Given the description of an element on the screen output the (x, y) to click on. 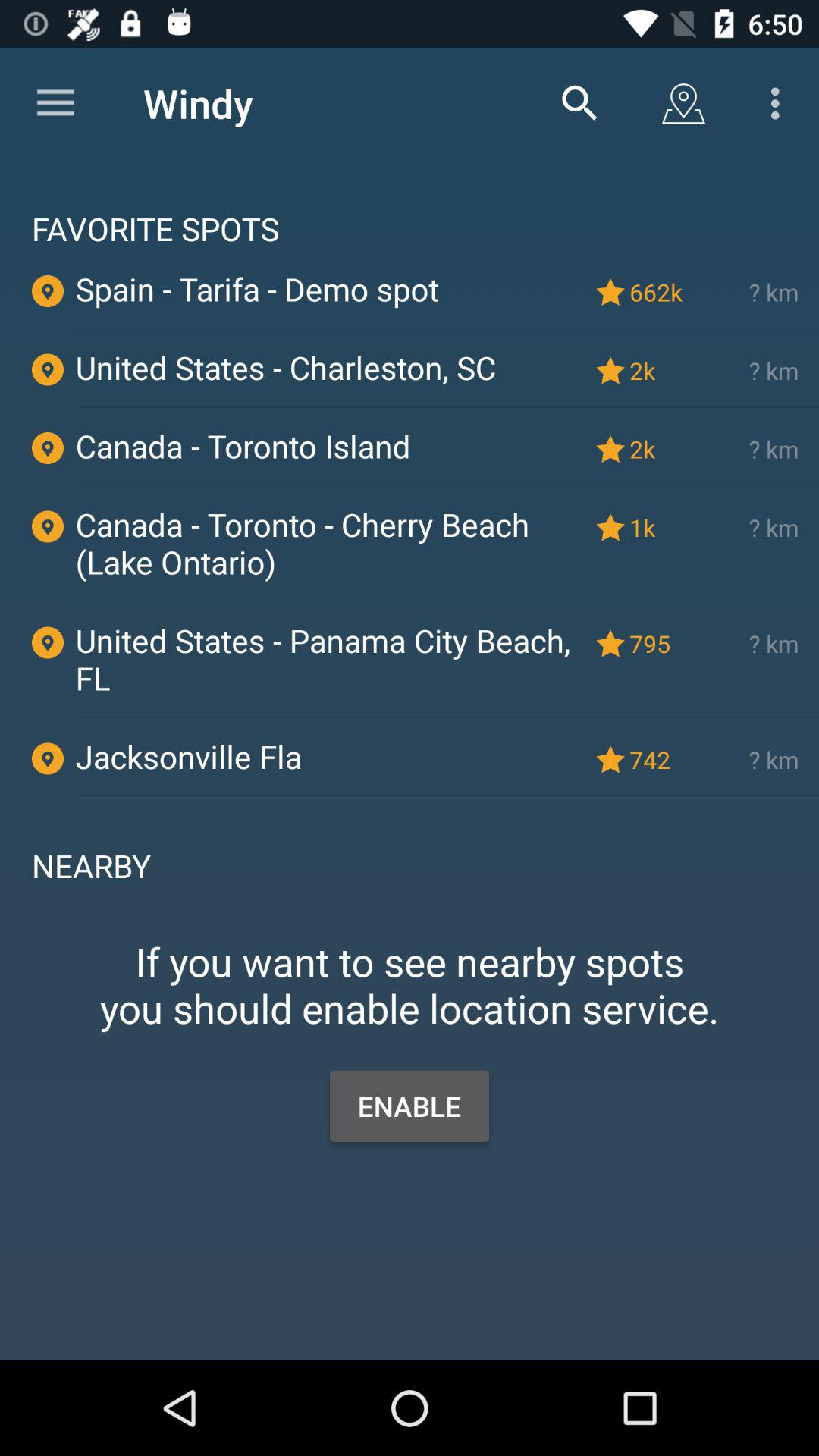
jump until the 795 item (659, 643)
